Given the description of an element on the screen output the (x, y) to click on. 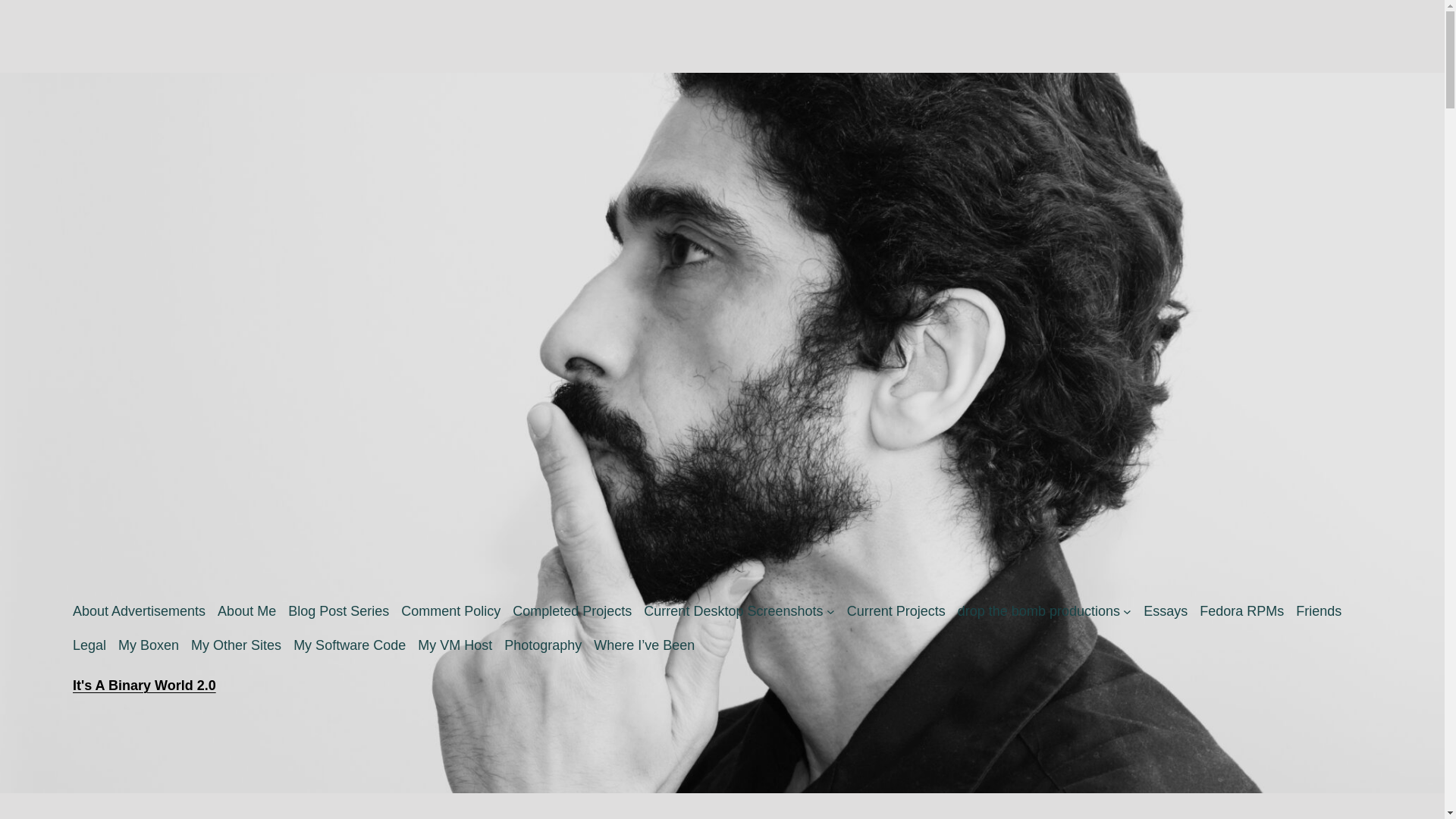
drop the bomb productions (1038, 611)
Current Projects (895, 611)
Fedora RPMs (1241, 611)
Comment Policy (450, 611)
Legal (89, 645)
Current Desktop Screenshots (732, 611)
About Advertisements (138, 611)
Completed Projects (571, 611)
Blog Post Series (338, 611)
About Me (246, 611)
